Given the description of an element on the screen output the (x, y) to click on. 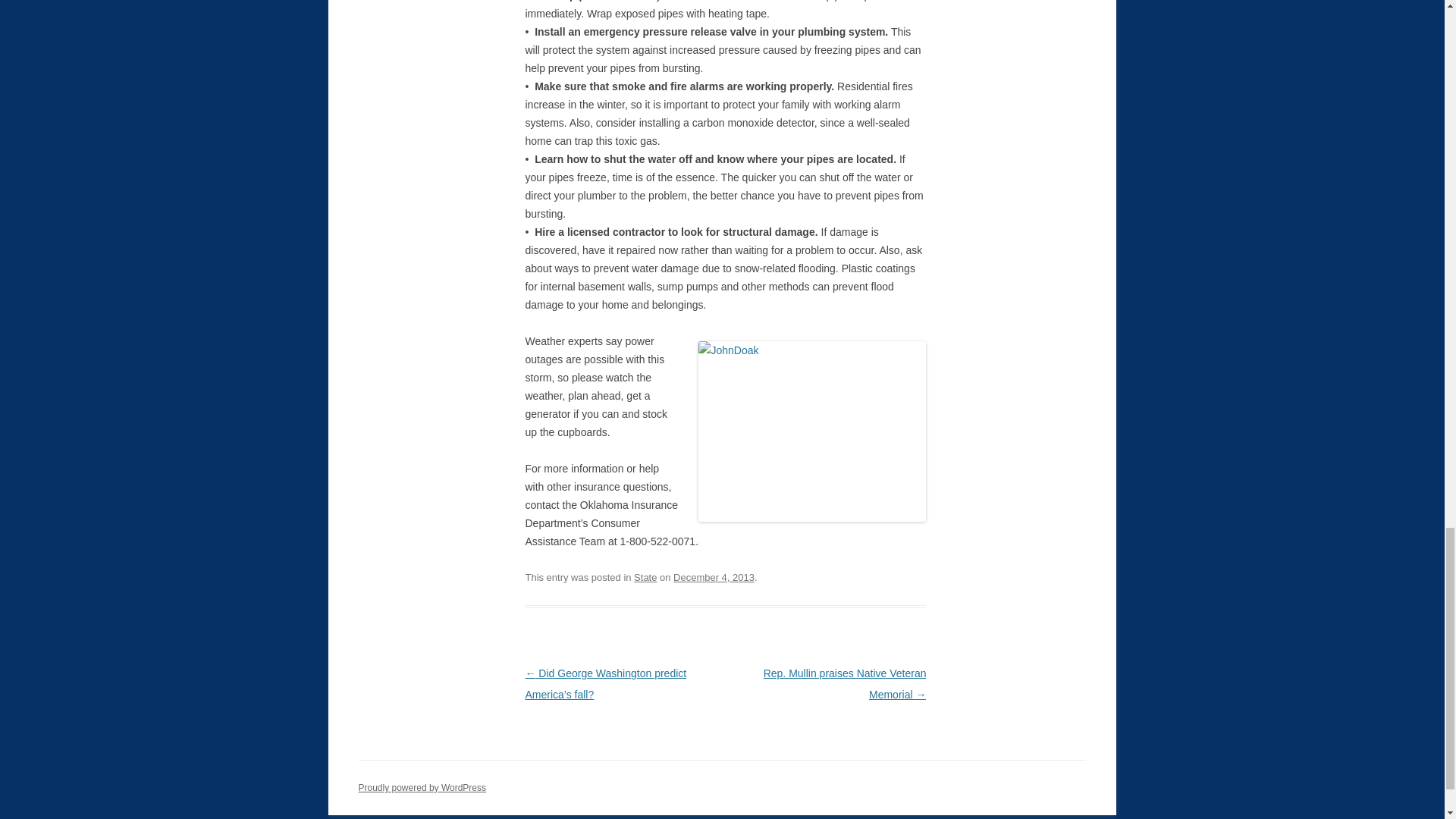
December 4, 2013 (713, 577)
Semantic Personal Publishing Platform (422, 787)
State (644, 577)
9:20 pm (713, 577)
Proudly powered by WordPress (422, 787)
